Given the description of an element on the screen output the (x, y) to click on. 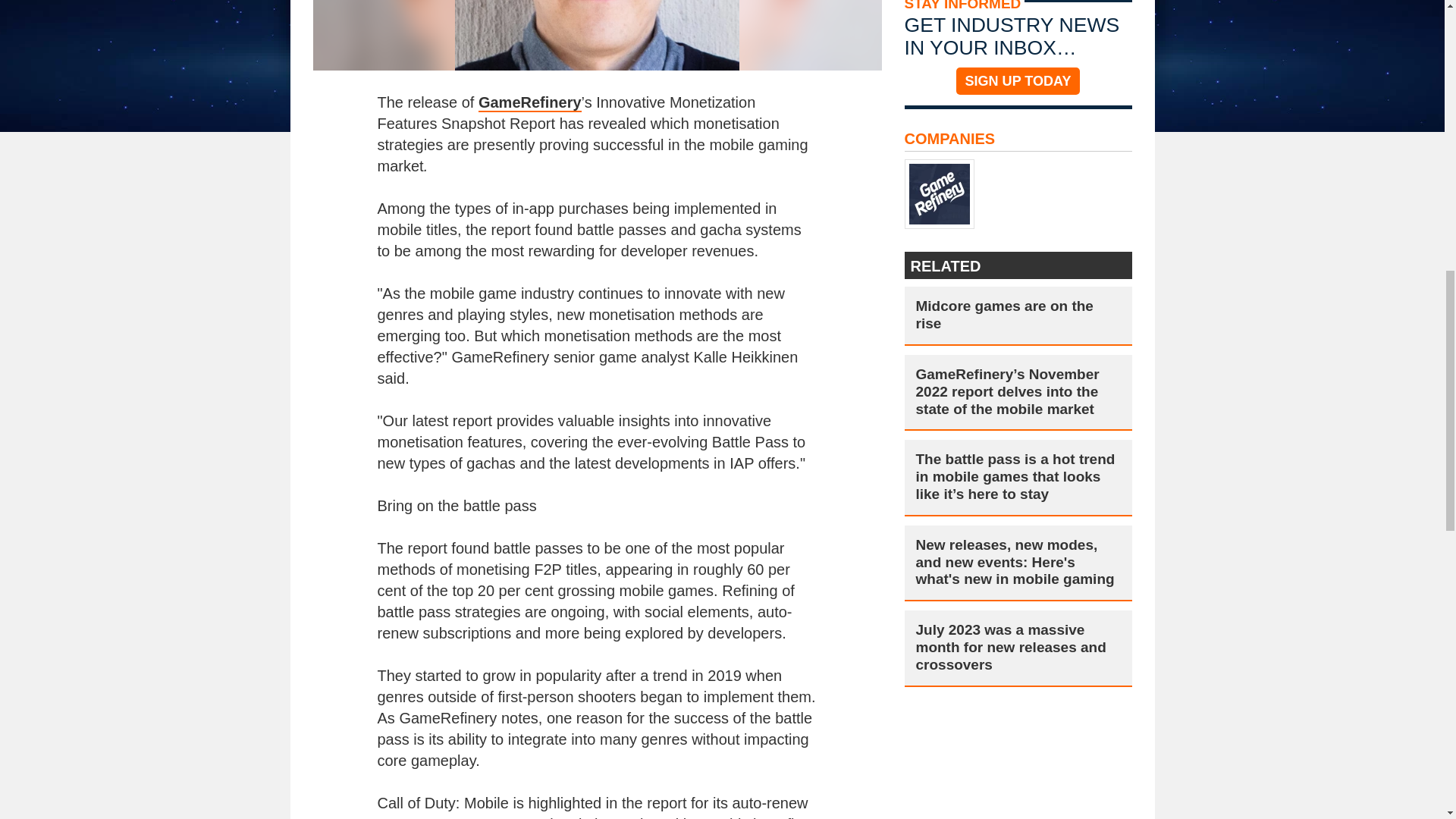
GameRefinery (529, 103)
